Given the description of an element on the screen output the (x, y) to click on. 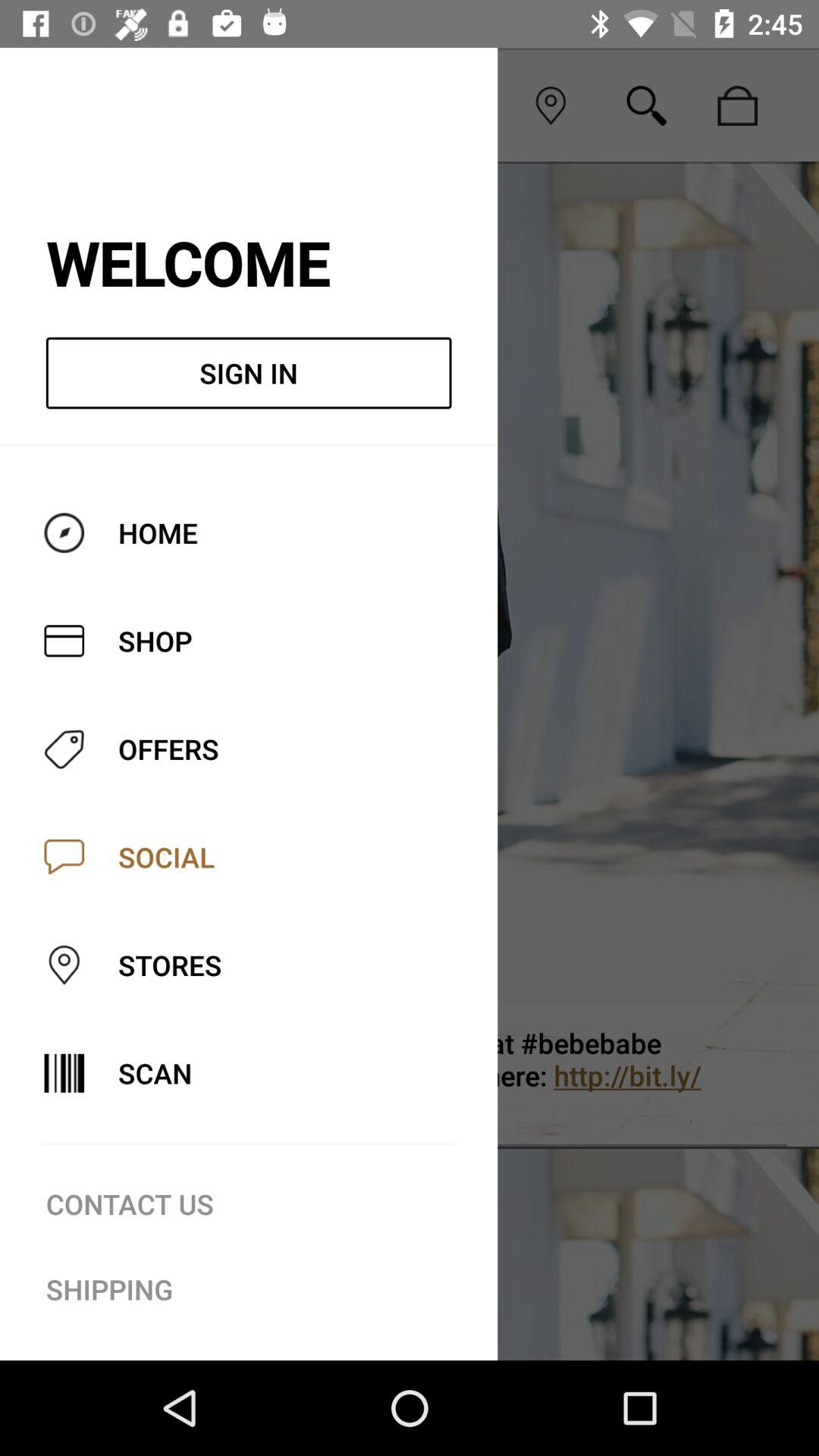
flip to embroidered bomber on (472, 1075)
